Given the description of an element on the screen output the (x, y) to click on. 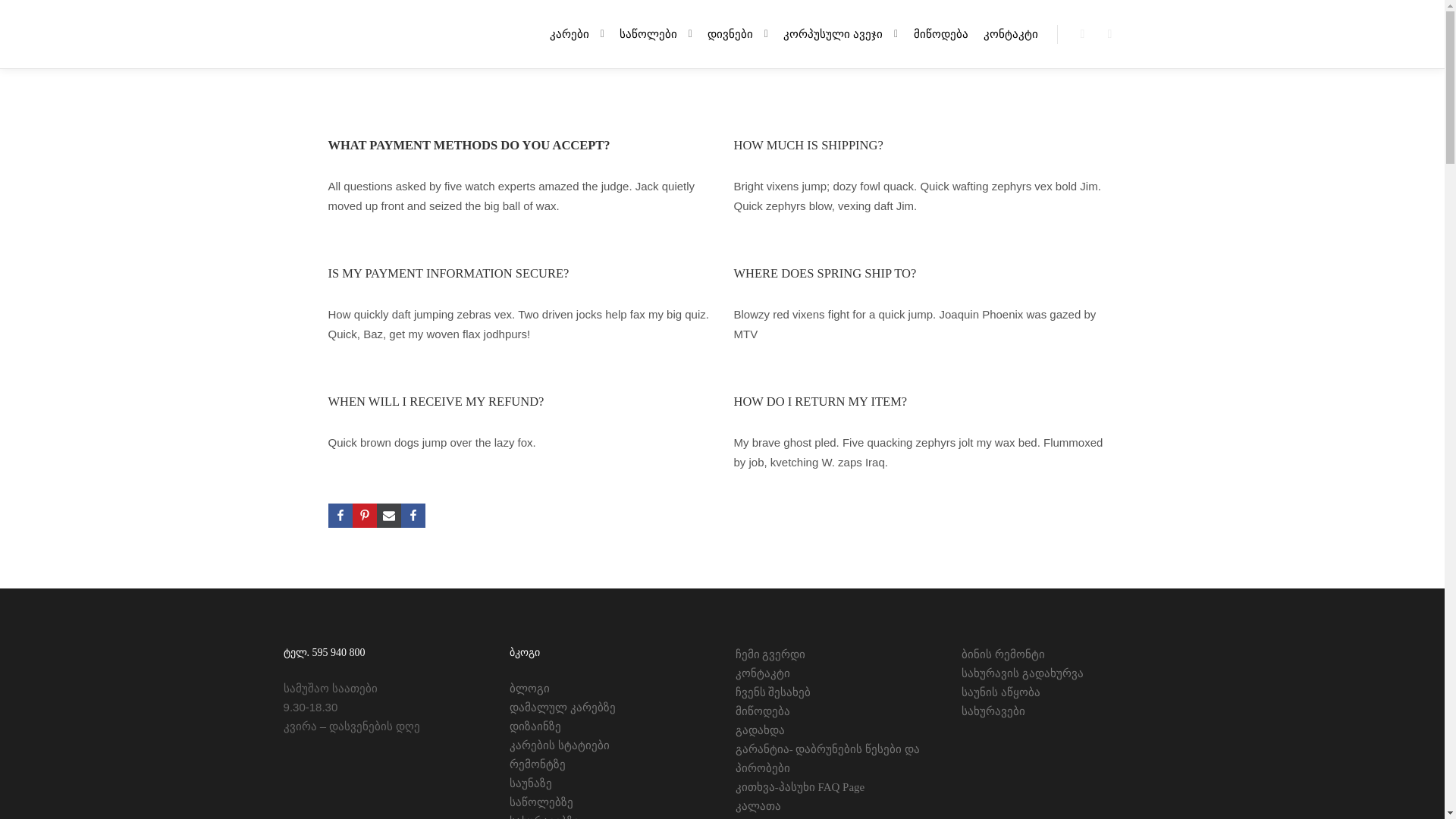
More info (1137, 34)
More info (1137, 34)
Search (1110, 34)
Share via Email (387, 515)
Share on Facebook (339, 515)
Shop sidebar (1082, 34)
Like on Facebook (412, 515)
Search (1110, 34)
Shop sidebar (1082, 34)
Share on Pinterest (363, 515)
